Given the description of an element on the screen output the (x, y) to click on. 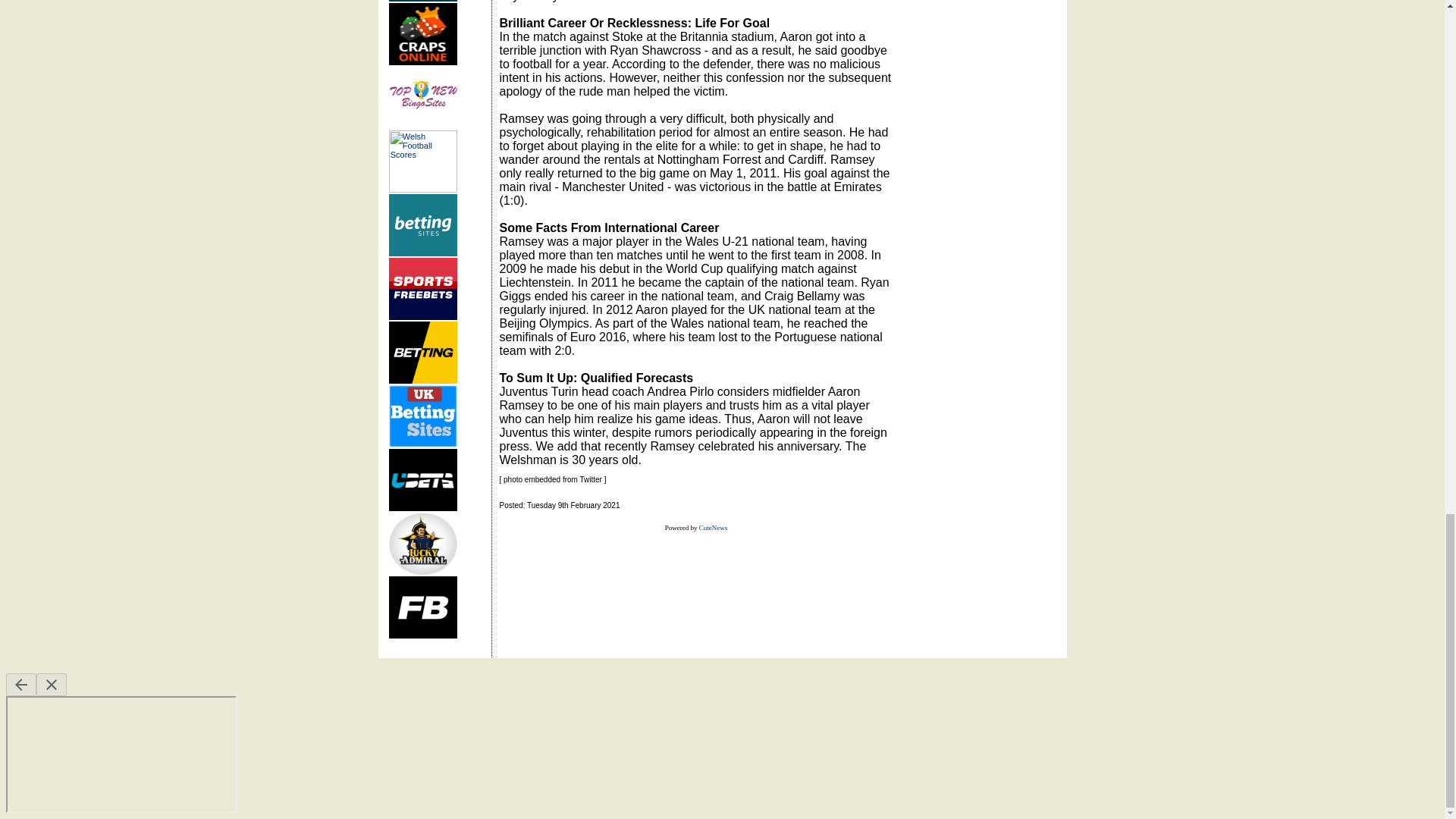
Best Betting Websites (422, 352)
Best Betting Sites (422, 415)
Welsh Football Scores (422, 161)
CuteNews - PHP News Management System (713, 527)
Best free bets for UK customers (422, 607)
Sports Free Bets (422, 288)
Lucky Admiral - huge collection of mobile casino games (422, 543)
UBets (422, 479)
Best New Bingo sites (422, 97)
CuteNews (713, 527)
